Given the description of an element on the screen output the (x, y) to click on. 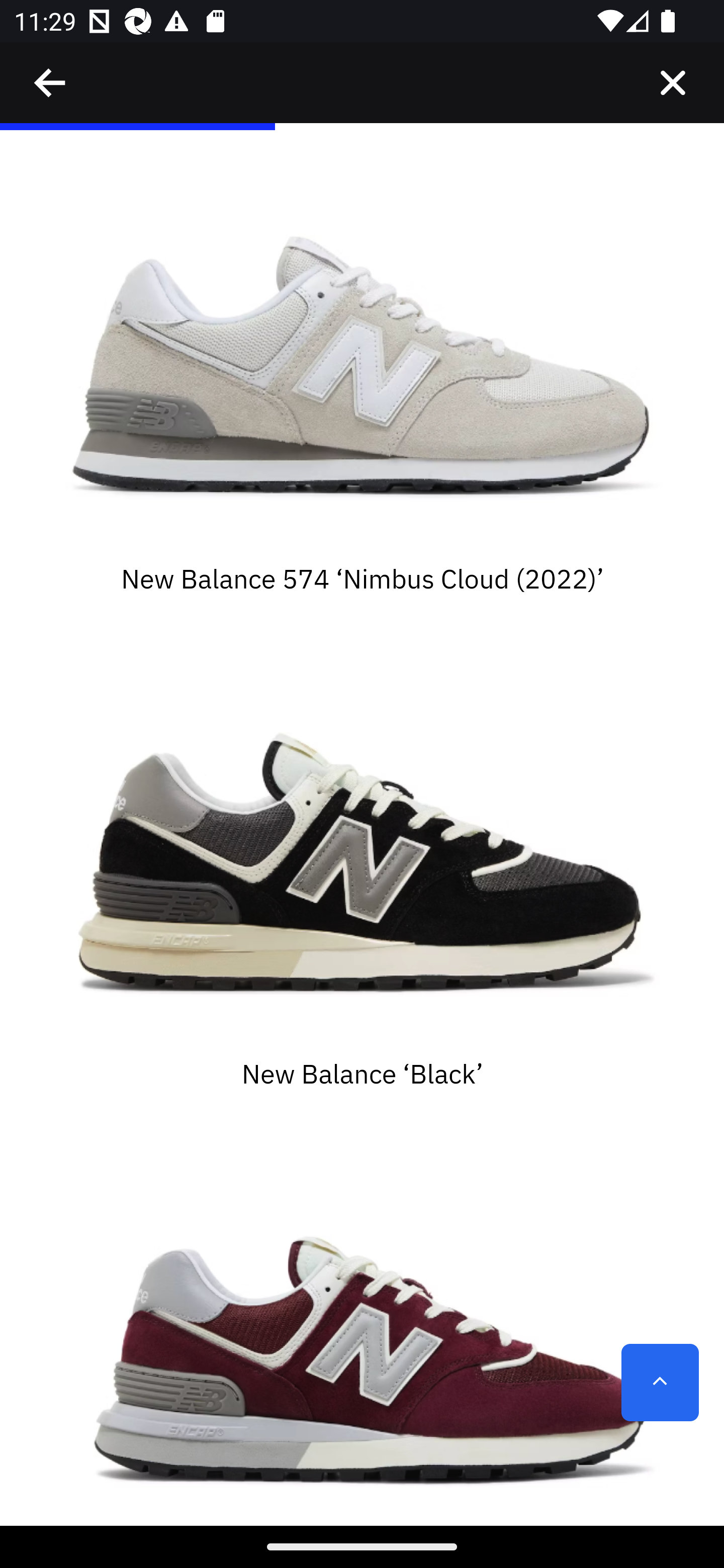
 (50, 83)
 (672, 83)
New Balance 574 'Nimbus Cloud (2022)' ML574EVW (361, 348)
New Balance 'Black' U574LGG1 (361, 844)
Scroll to top  (659, 1382)
